Given the description of an element on the screen output the (x, y) to click on. 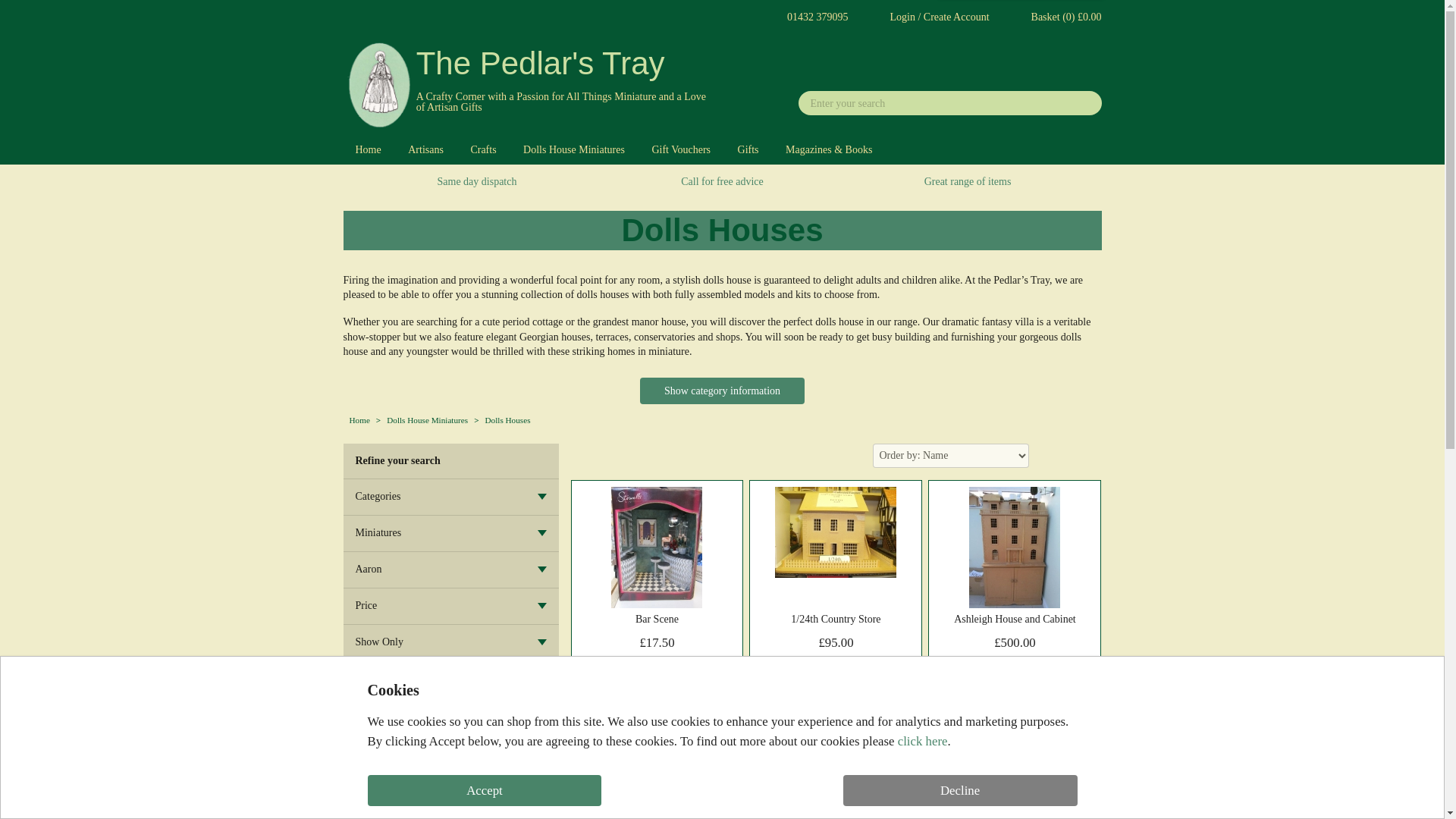
Artisans (425, 149)
Crafts (483, 149)
Search (1085, 103)
List view (1088, 455)
Home (367, 149)
01432 379095 (804, 17)
Thumbnail view (1052, 455)
